Given the description of an element on the screen output the (x, y) to click on. 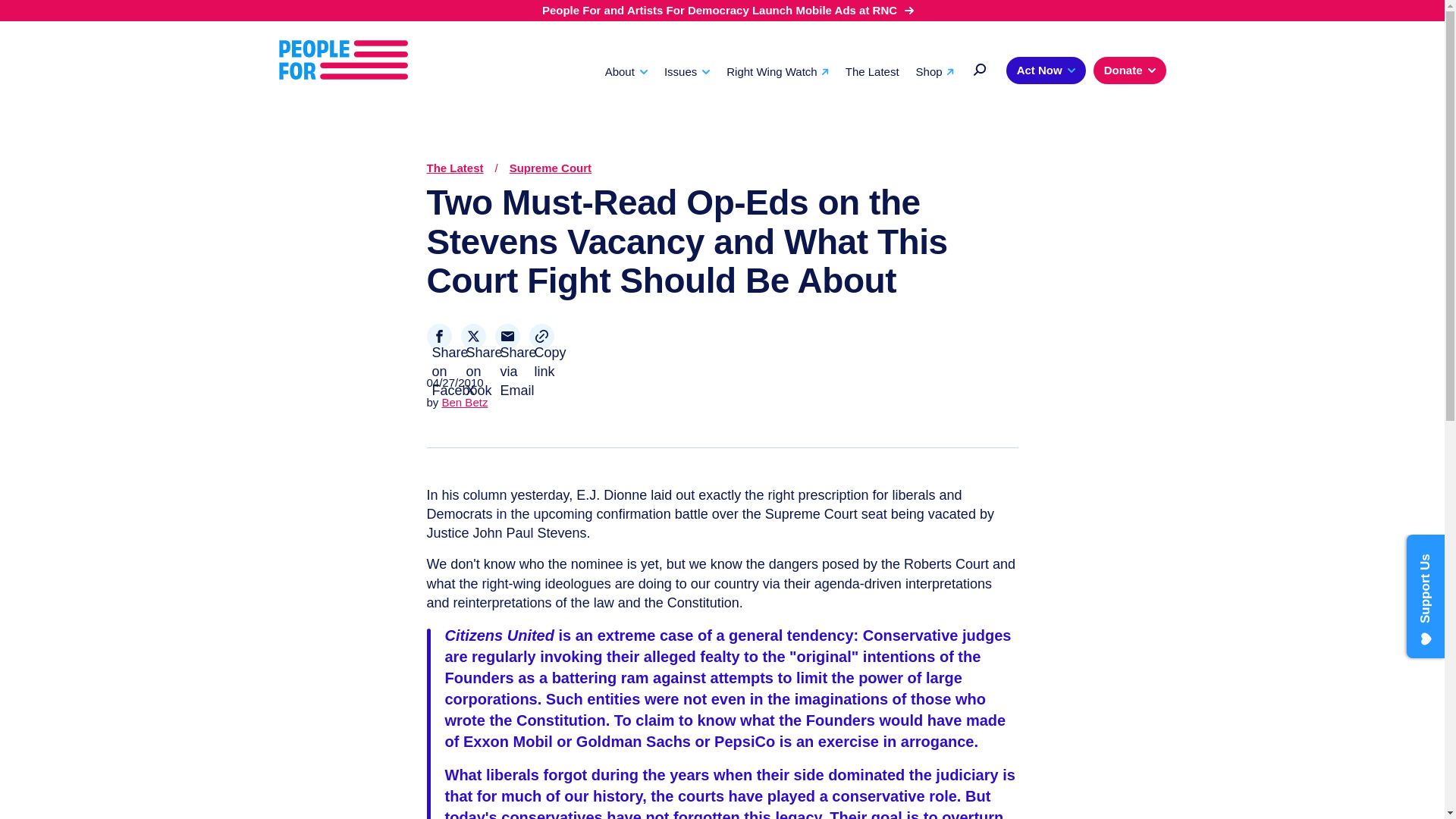
Share to Email (507, 335)
Shop (934, 71)
Share to Facebook (438, 335)
The Latest (872, 71)
Donate (1129, 70)
Home (343, 59)
Share to X (473, 335)
Issues (686, 71)
Right Wing Watch (777, 71)
About (626, 71)
Act Now (1046, 70)
